Given the description of an element on the screen output the (x, y) to click on. 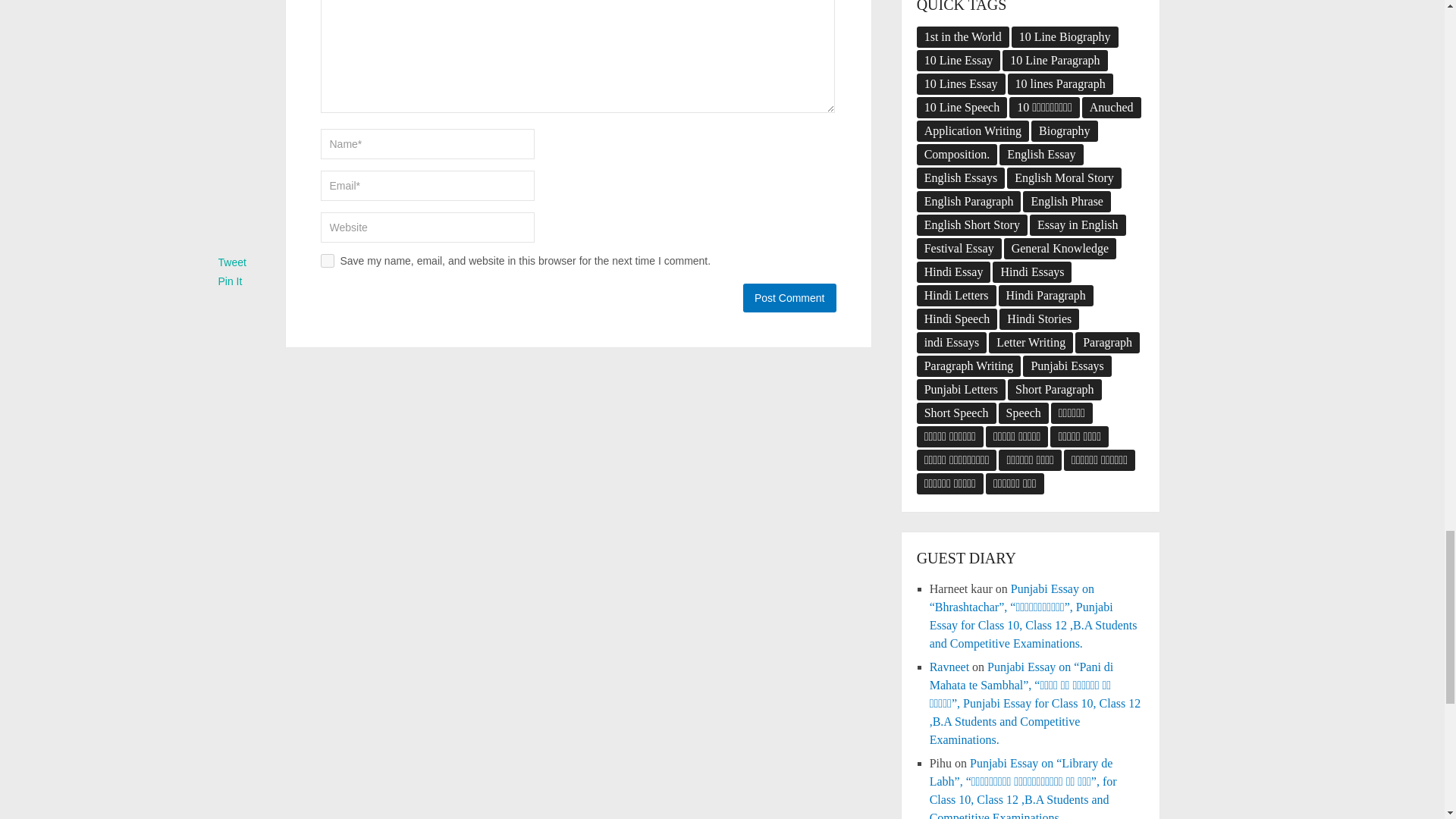
Post Comment (788, 297)
yes (326, 260)
